Given the description of an element on the screen output the (x, y) to click on. 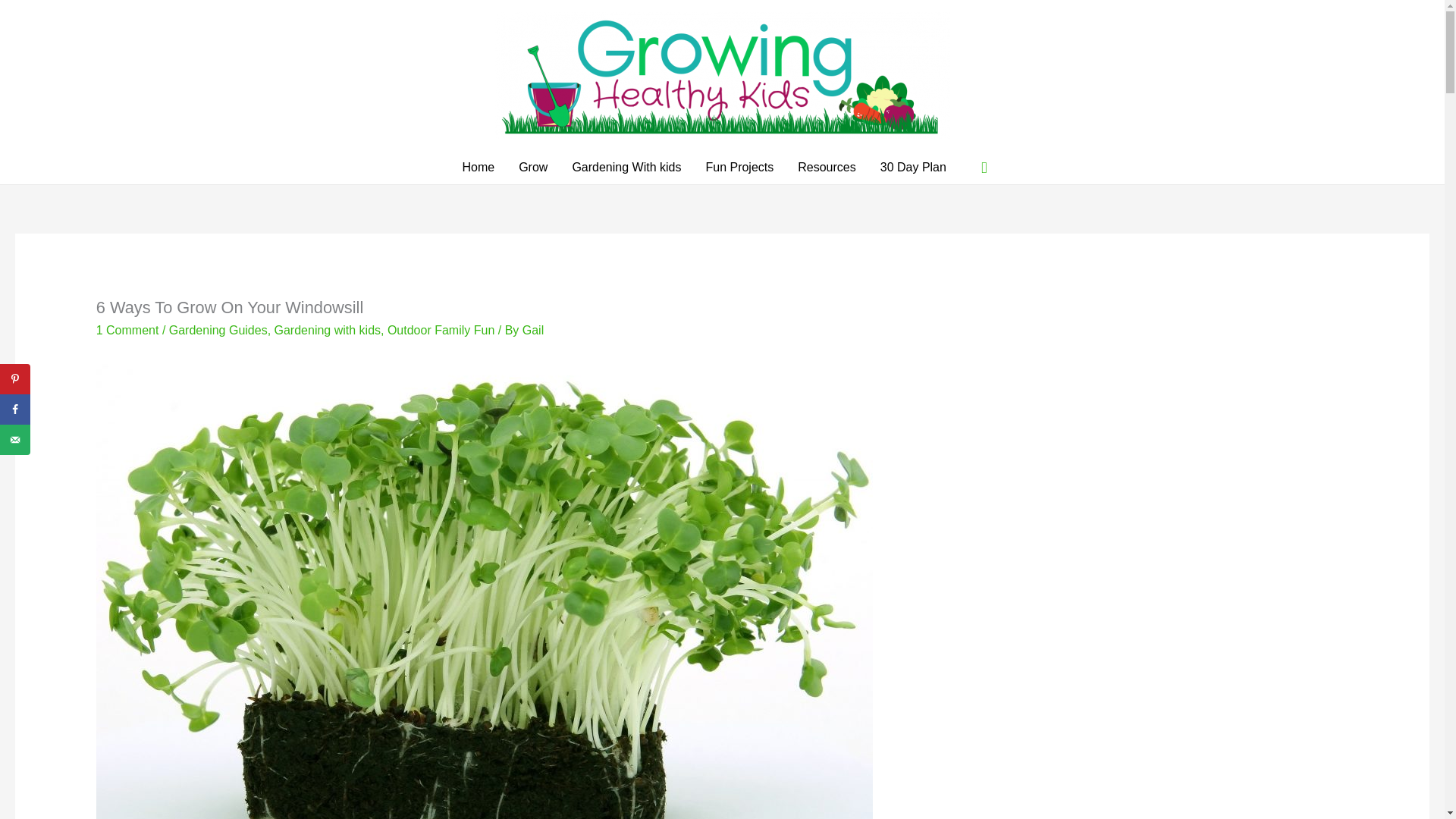
30 Day Plan (912, 167)
Share on Facebook (15, 409)
Grow (532, 167)
Gail (532, 329)
Gardening Guides (217, 329)
Save to Pinterest (15, 378)
Home (477, 167)
Gardening with kids (328, 329)
Outdoor Family Fun (441, 329)
Send over email (15, 440)
